Given the description of an element on the screen output the (x, y) to click on. 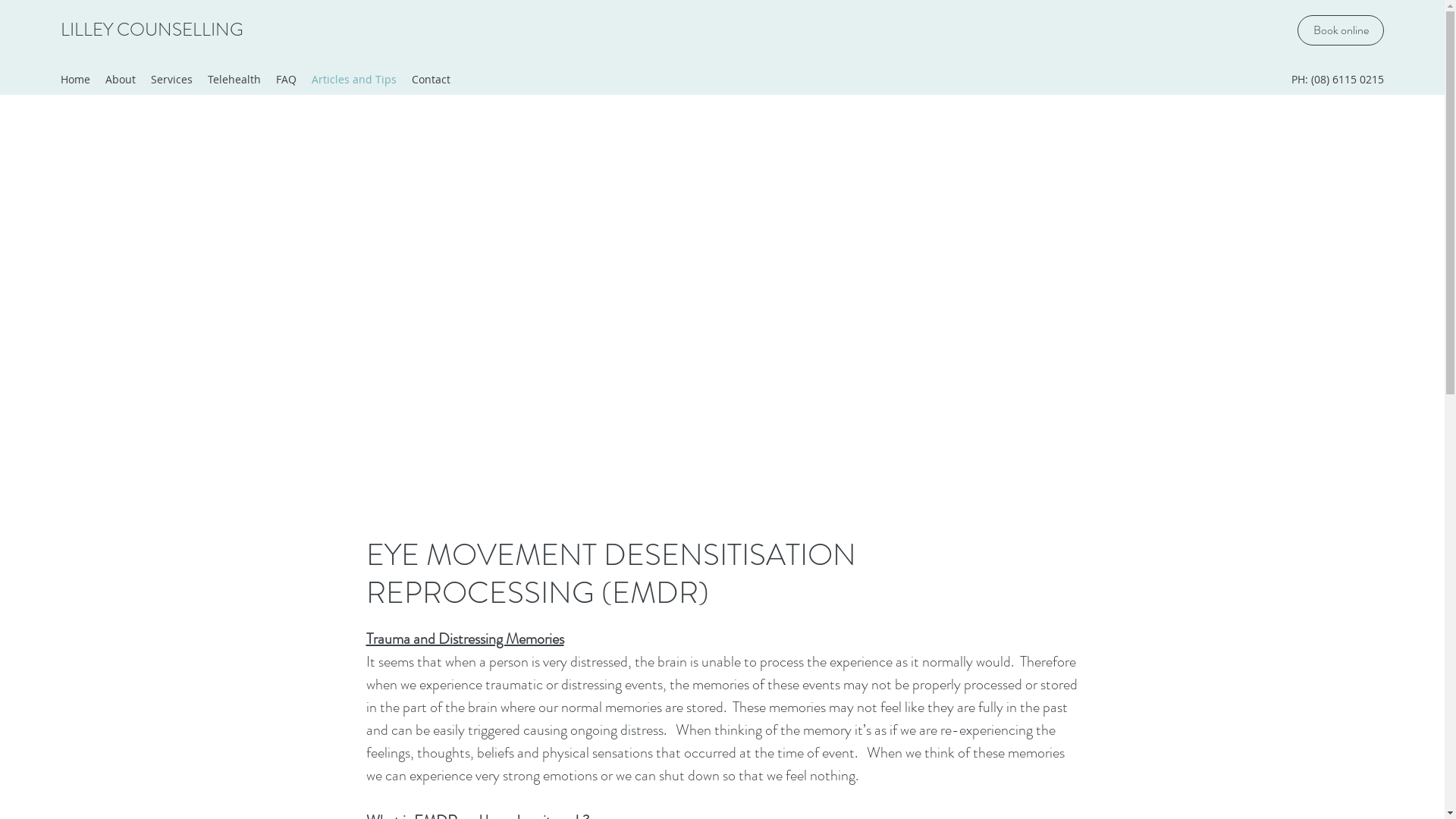
LILLEY COUNSELLING Element type: text (151, 29)
FAQ Element type: text (286, 79)
Book online Element type: text (1340, 30)
Services Element type: text (171, 79)
Articles and Tips Element type: text (354, 79)
Home Element type: text (75, 79)
Telehealth Element type: text (234, 79)
About Element type: text (120, 79)
Contact Element type: text (431, 79)
